Given the description of an element on the screen output the (x, y) to click on. 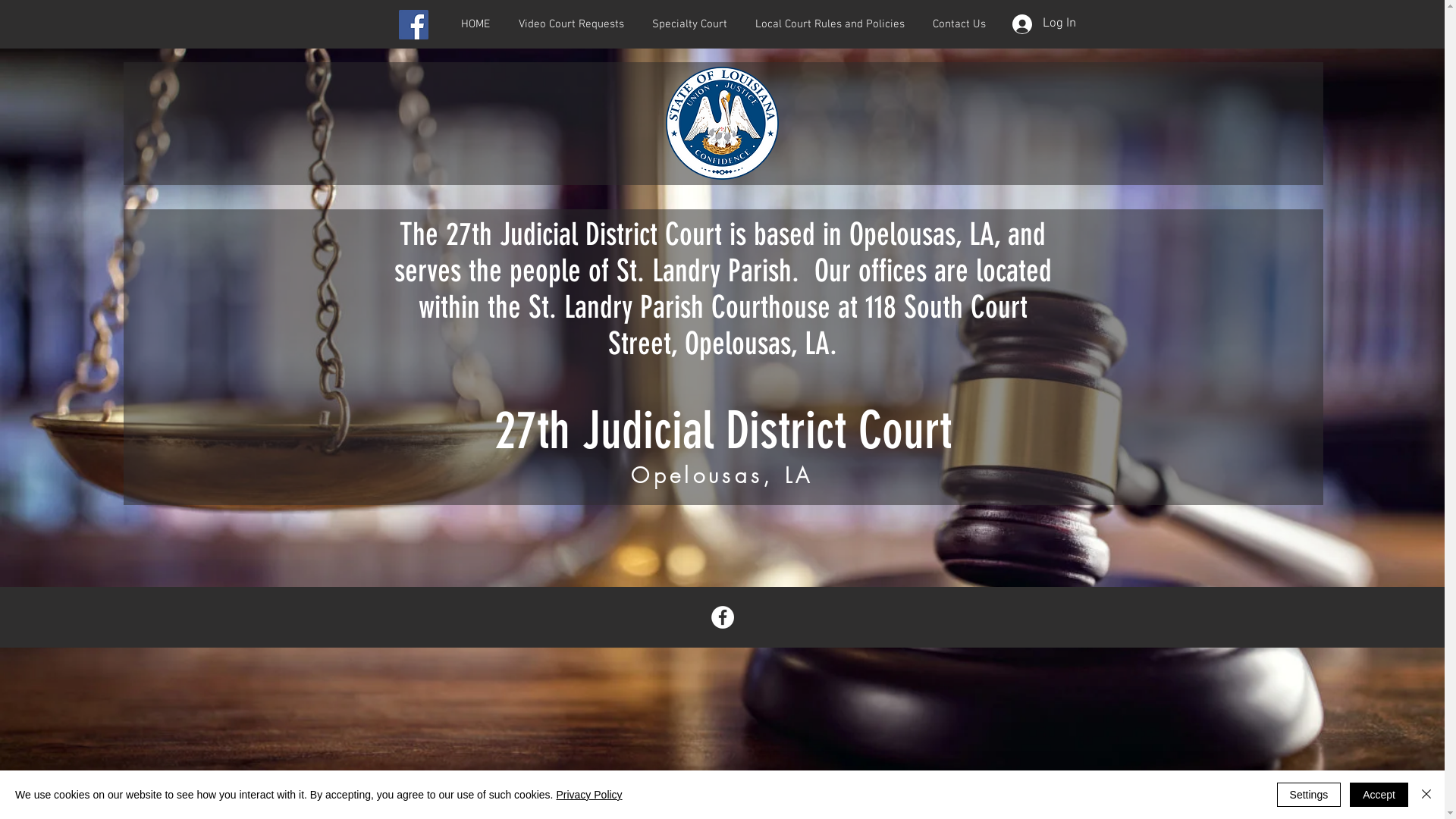
Settings Element type: text (1309, 794)
27th Judicial District Court Element type: text (722, 430)
Local Court Rules and Policies Element type: text (830, 24)
Accept Element type: text (1378, 794)
HOME Element type: text (474, 24)
Video Court Requests Element type: text (570, 24)
Log In Element type: text (1043, 23)
Contact Us Element type: text (959, 24)
Privacy Policy Element type: text (588, 794)
Specialty Court Element type: text (689, 24)
